Given the description of an element on the screen output the (x, y) to click on. 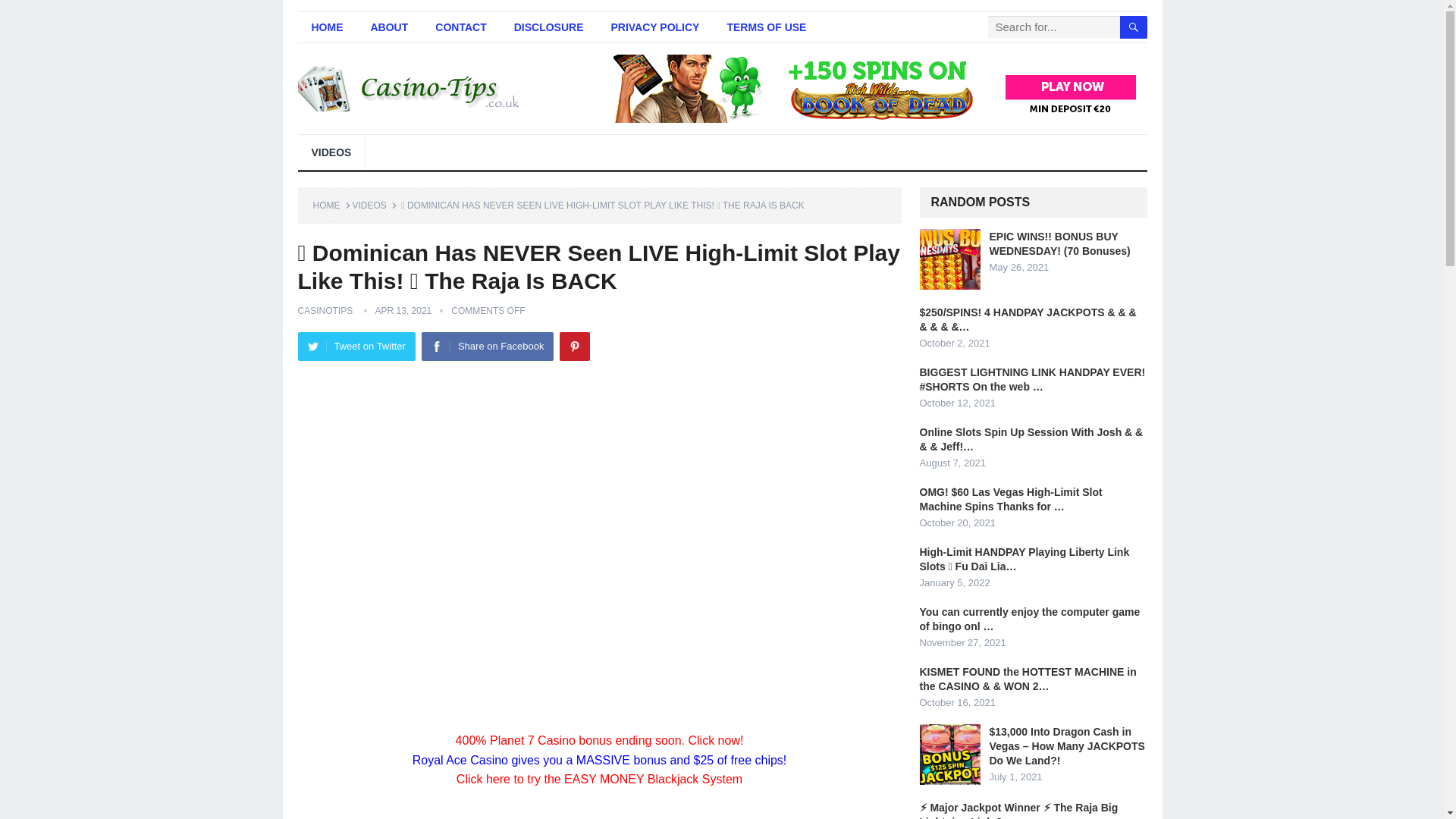
VIDEOS (331, 152)
DISCLOSURE (548, 27)
ABOUT (389, 27)
View all posts in Videos (374, 204)
CASINOTIPS (324, 310)
HOME (331, 204)
PRIVACY POLICY (654, 27)
Posts by casinotips (324, 310)
Click here to try the EASY MONEY Blackjack System (599, 779)
HOME (326, 27)
Tweet on Twitter (355, 346)
Share on Facebook (487, 346)
CONTACT (460, 27)
Pinterest (574, 346)
TERMS OF USE (766, 27)
